Given the description of an element on the screen output the (x, y) to click on. 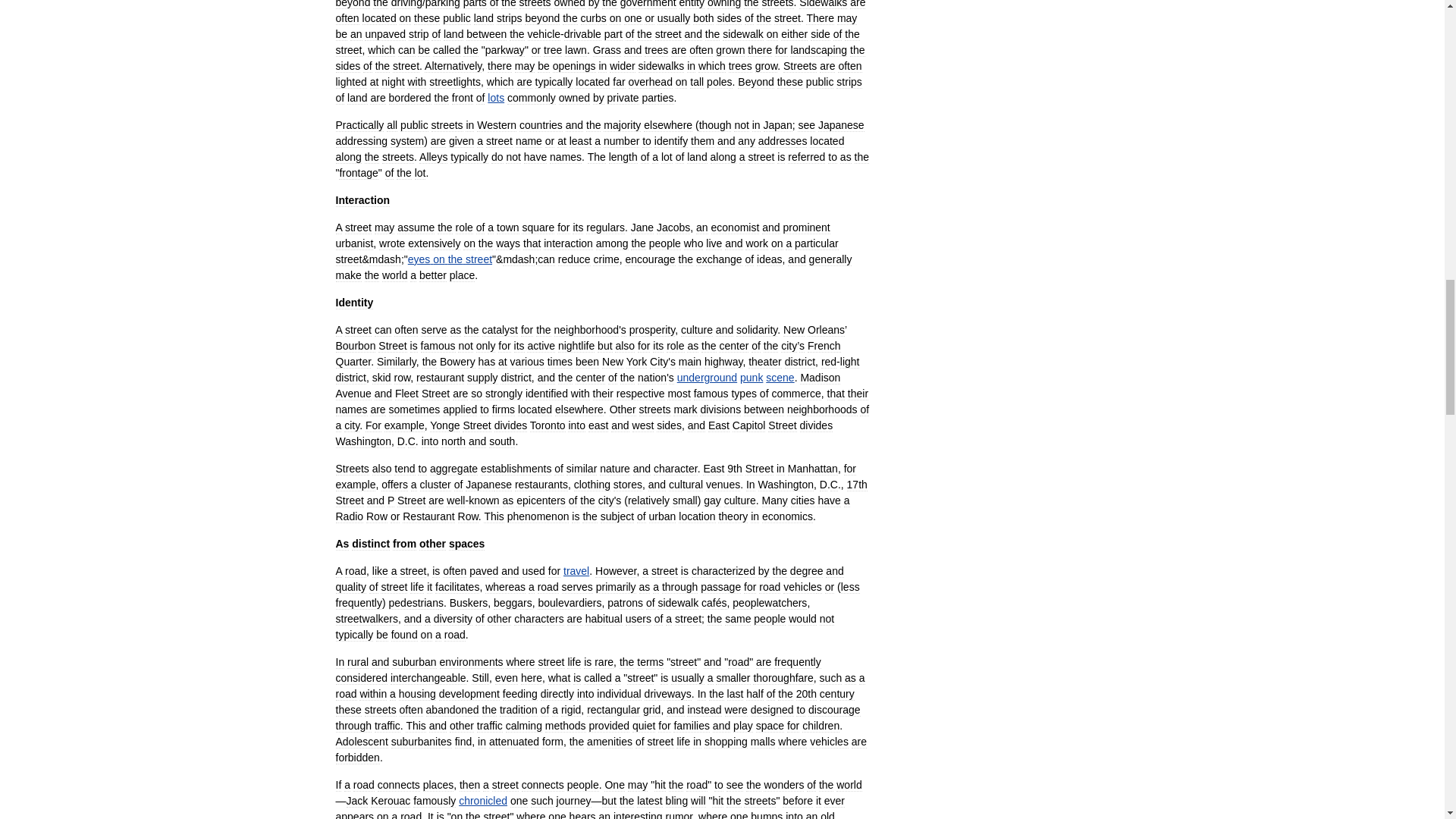
scene (779, 377)
underground (706, 377)
lots (495, 97)
punk (750, 377)
eyes on the street (449, 259)
travel (576, 571)
